Given the description of an element on the screen output the (x, y) to click on. 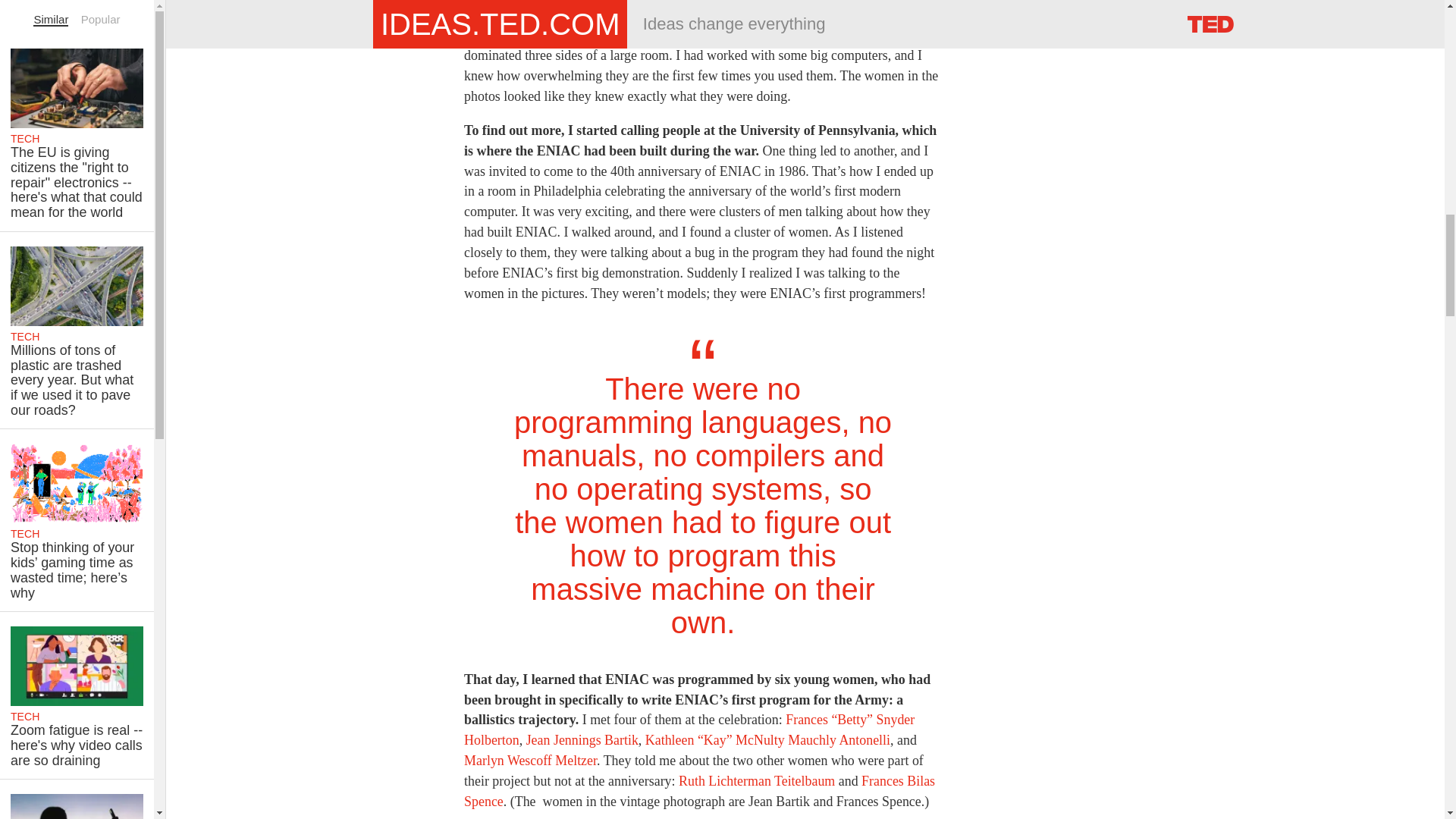
Ruth Lichterman Teitelbaum (756, 780)
Frances Bilas Spence (699, 791)
Jean Jennings Bartik (582, 739)
Marlyn Wescoff Meltzer (530, 760)
